Given the description of an element on the screen output the (x, y) to click on. 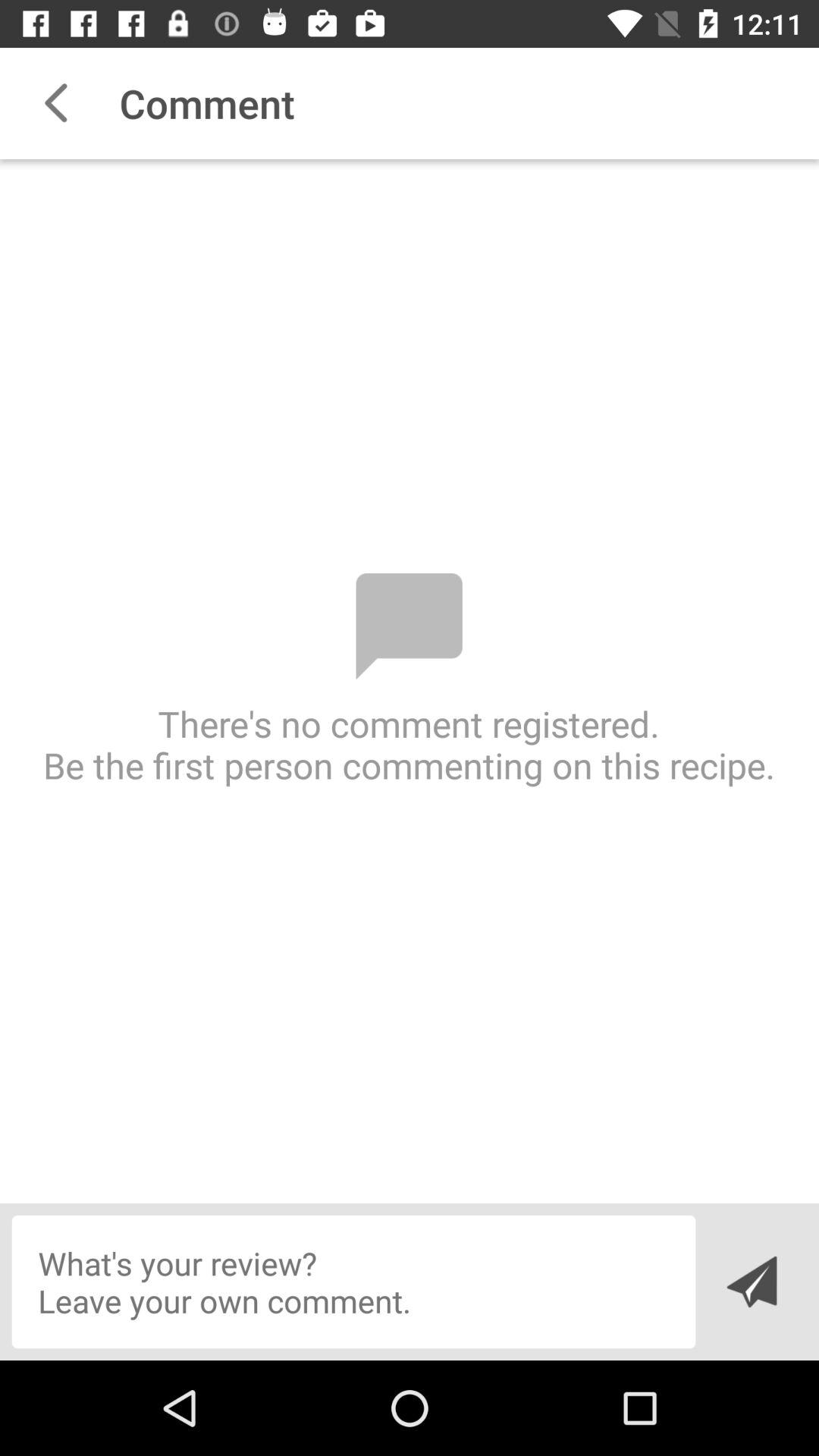
comment box (353, 1281)
